Given the description of an element on the screen output the (x, y) to click on. 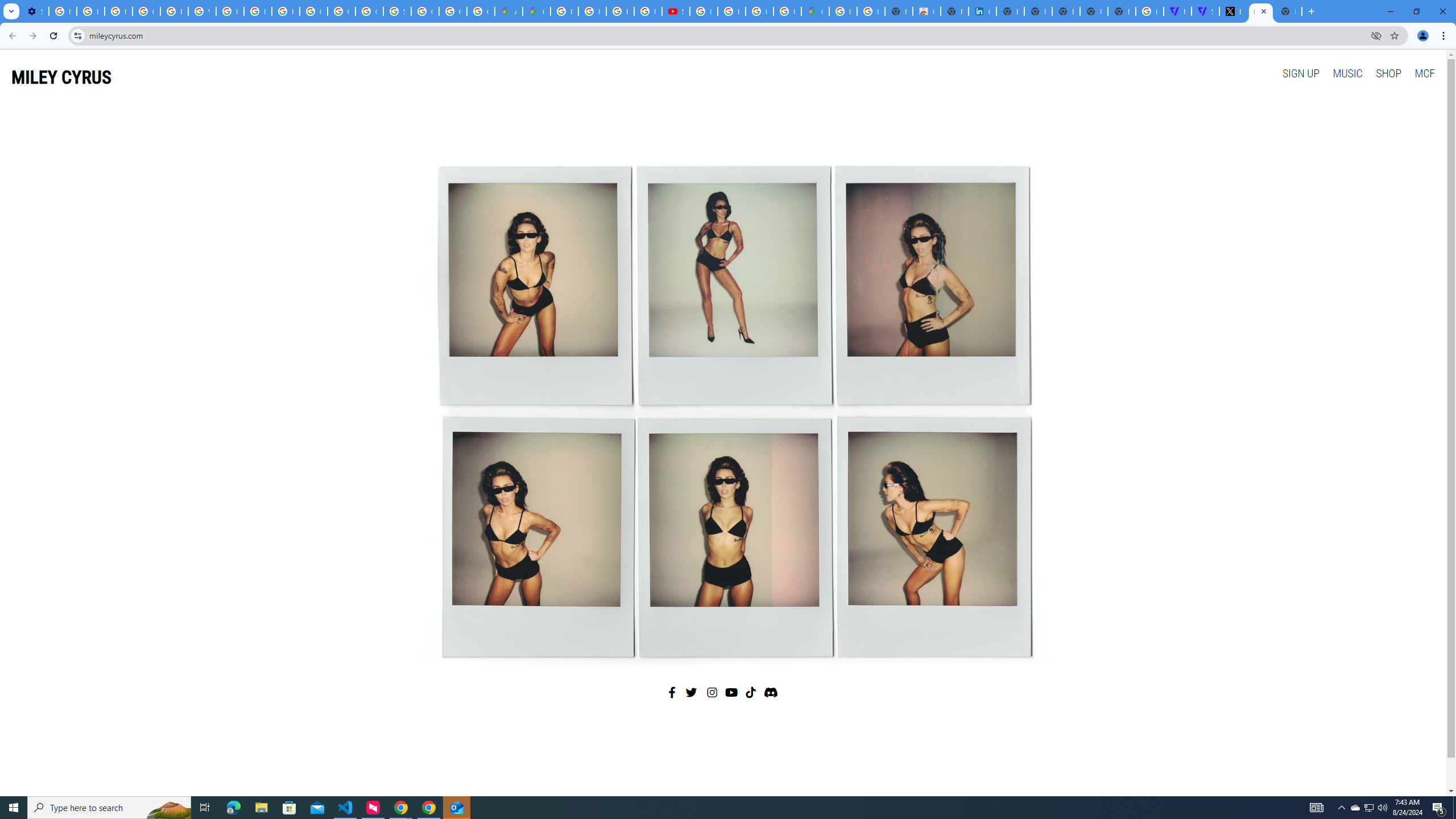
MCF (1424, 73)
Miley Cyrus (@MileyCyrus) / X (1233, 11)
YouTube (202, 11)
Privacy Help Center - Policies Help (592, 11)
Learn how to find your photos - Google Photos Help (90, 11)
Google Maps (815, 11)
New Tab (1121, 11)
